Given the description of an element on the screen output the (x, y) to click on. 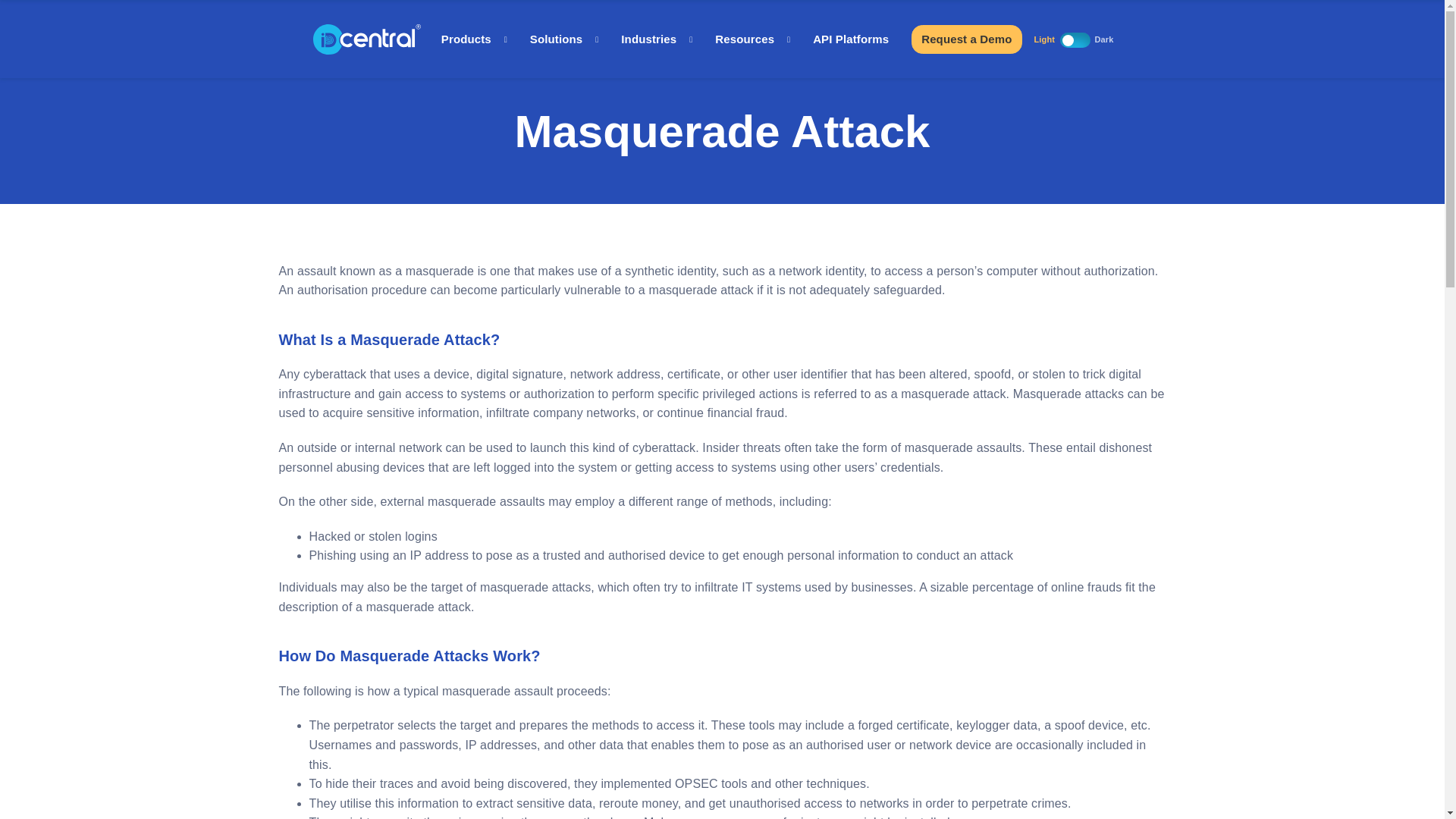
Industries (657, 38)
Products (473, 38)
Resources (752, 38)
API Platforms (850, 38)
Solutions (563, 38)
Request a Demo (966, 38)
